Given the description of an element on the screen output the (x, y) to click on. 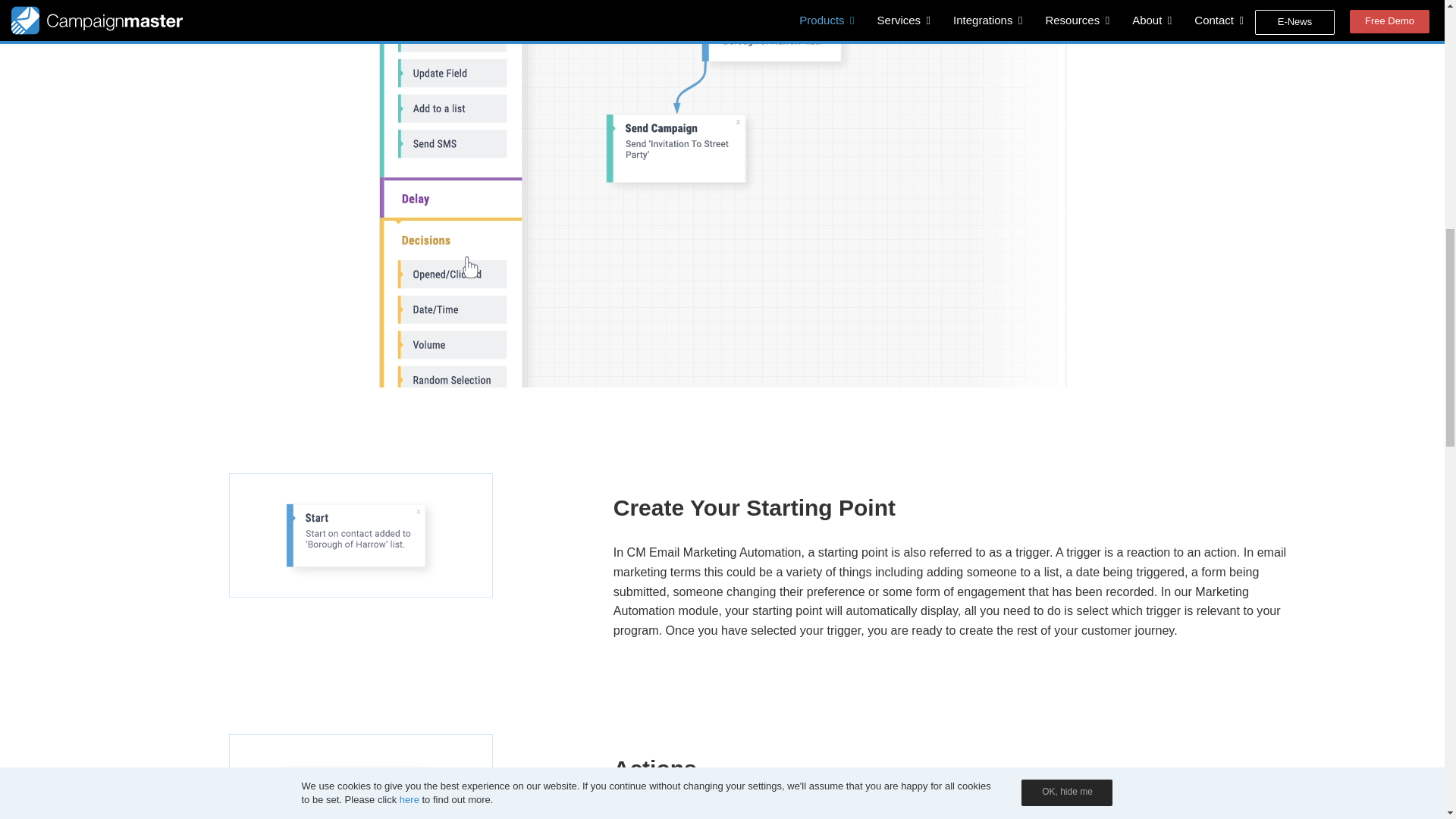
Automation Actions - Campaignmaster (360, 776)
Automation Starting Point - Campaignmaster (360, 535)
